Given the description of an element on the screen output the (x, y) to click on. 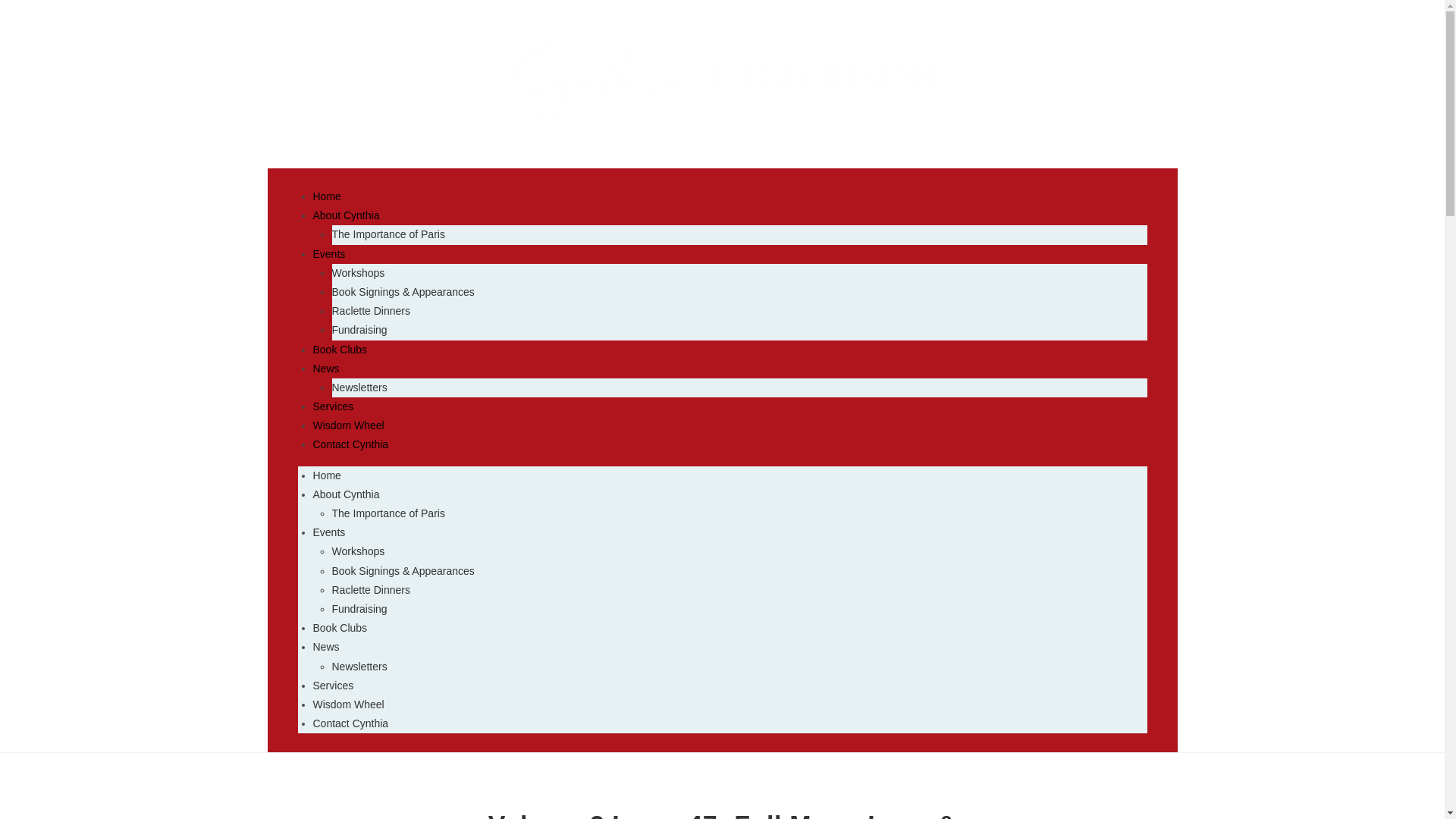
Wisdom Wheel (348, 425)
News (326, 646)
Workshops (358, 551)
Home (326, 196)
Contact Cynthia (350, 444)
Services (333, 406)
Fundraising (359, 608)
About Cynthia (345, 215)
Events (329, 532)
News (326, 368)
